Given the description of an element on the screen output the (x, y) to click on. 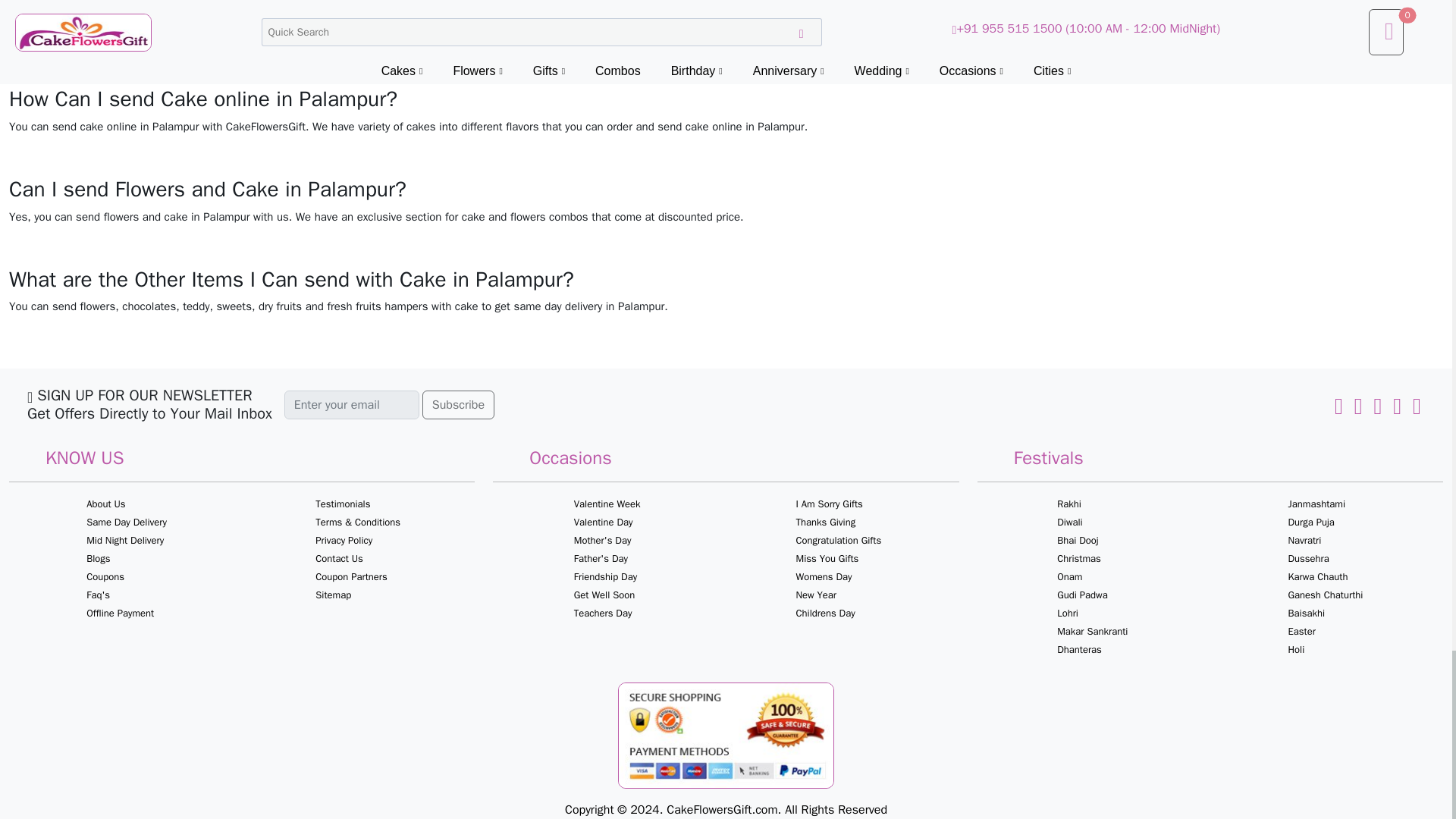
Subscribe (458, 404)
